Given the description of an element on the screen output the (x, y) to click on. 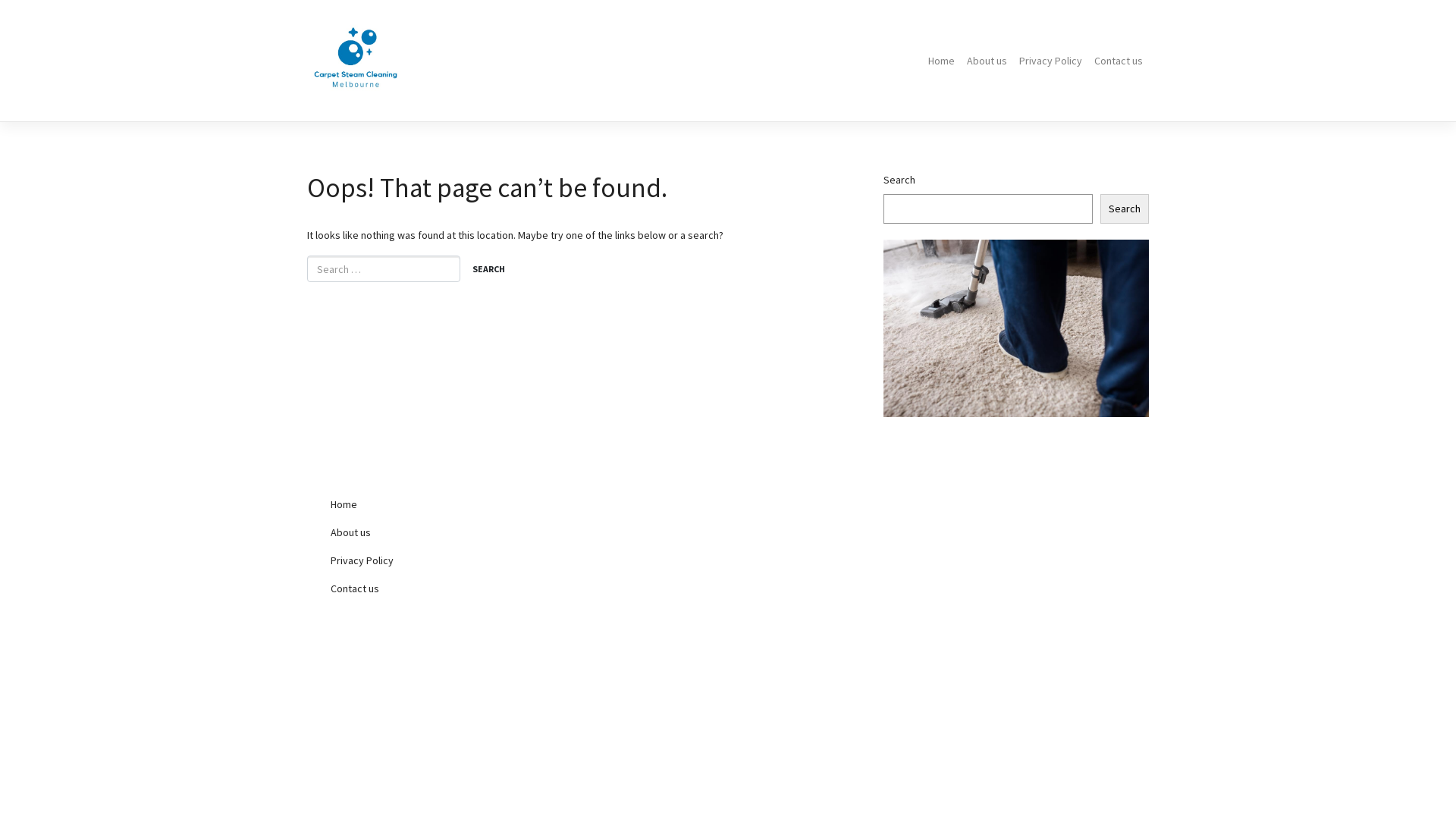
Privacy Policy Element type: text (447, 560)
Contact us Element type: text (447, 588)
Search Element type: text (488, 270)
About us Element type: text (447, 532)
Home Element type: text (447, 504)
About us Element type: text (986, 61)
Home Element type: text (941, 61)
Search for: Element type: hover (383, 268)
Privacy Policy Element type: text (1050, 61)
Contact us Element type: text (1118, 61)
Search Element type: text (1124, 208)
